Given the description of an element on the screen output the (x, y) to click on. 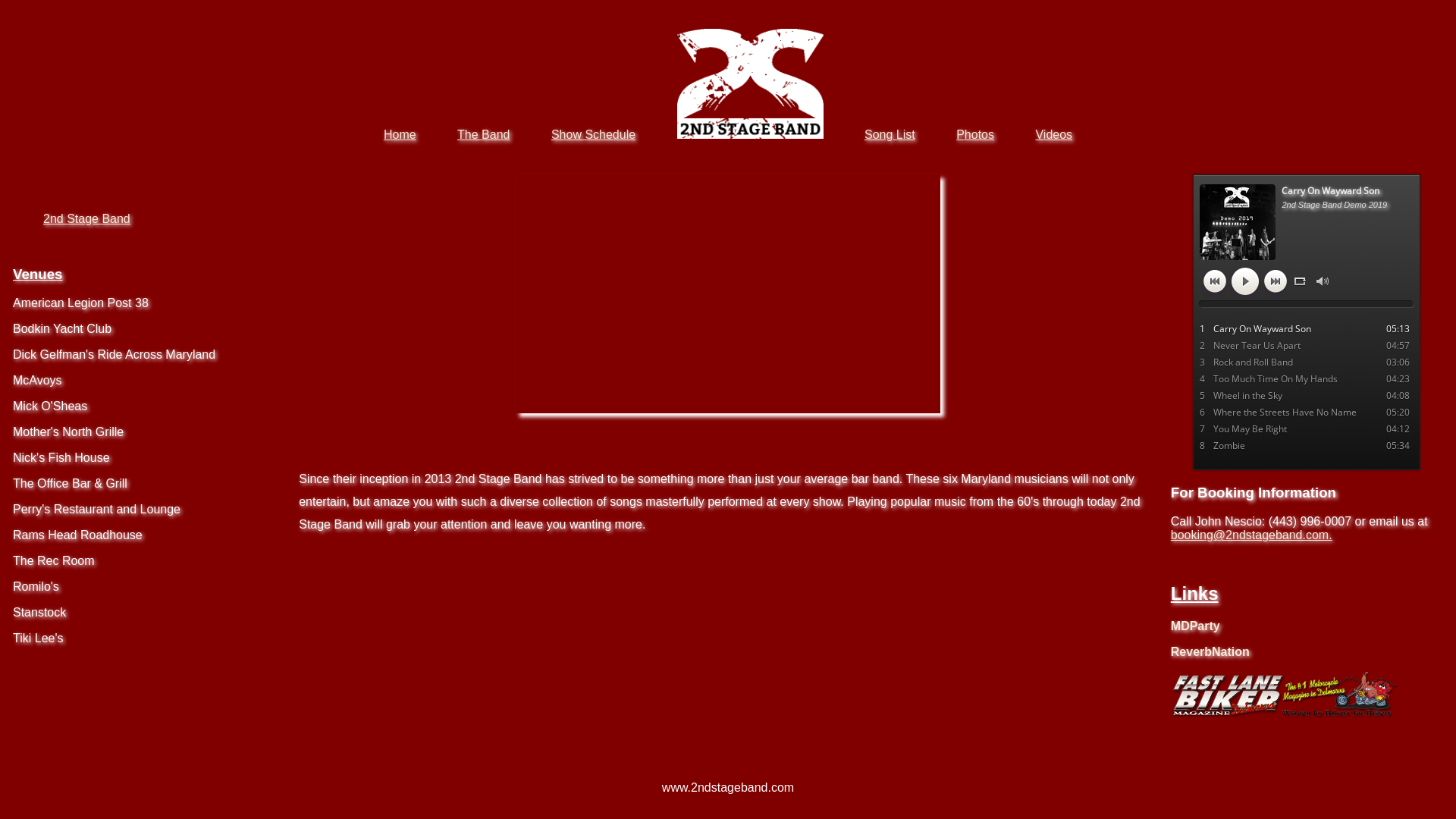
ReverbNation Element type: text (1209, 651)
booking@2ndstageband.com. Element type: text (1251, 534)
Home Element type: text (399, 134)
2nd Stage Band Element type: text (86, 218)
Photos Element type: text (975, 134)
Song List Element type: text (889, 134)
Show Schedule Element type: text (593, 134)
Videos Element type: text (1053, 134)
MDParty Element type: text (1195, 625)
The Band Element type: text (483, 134)
